Given the description of an element on the screen output the (x, y) to click on. 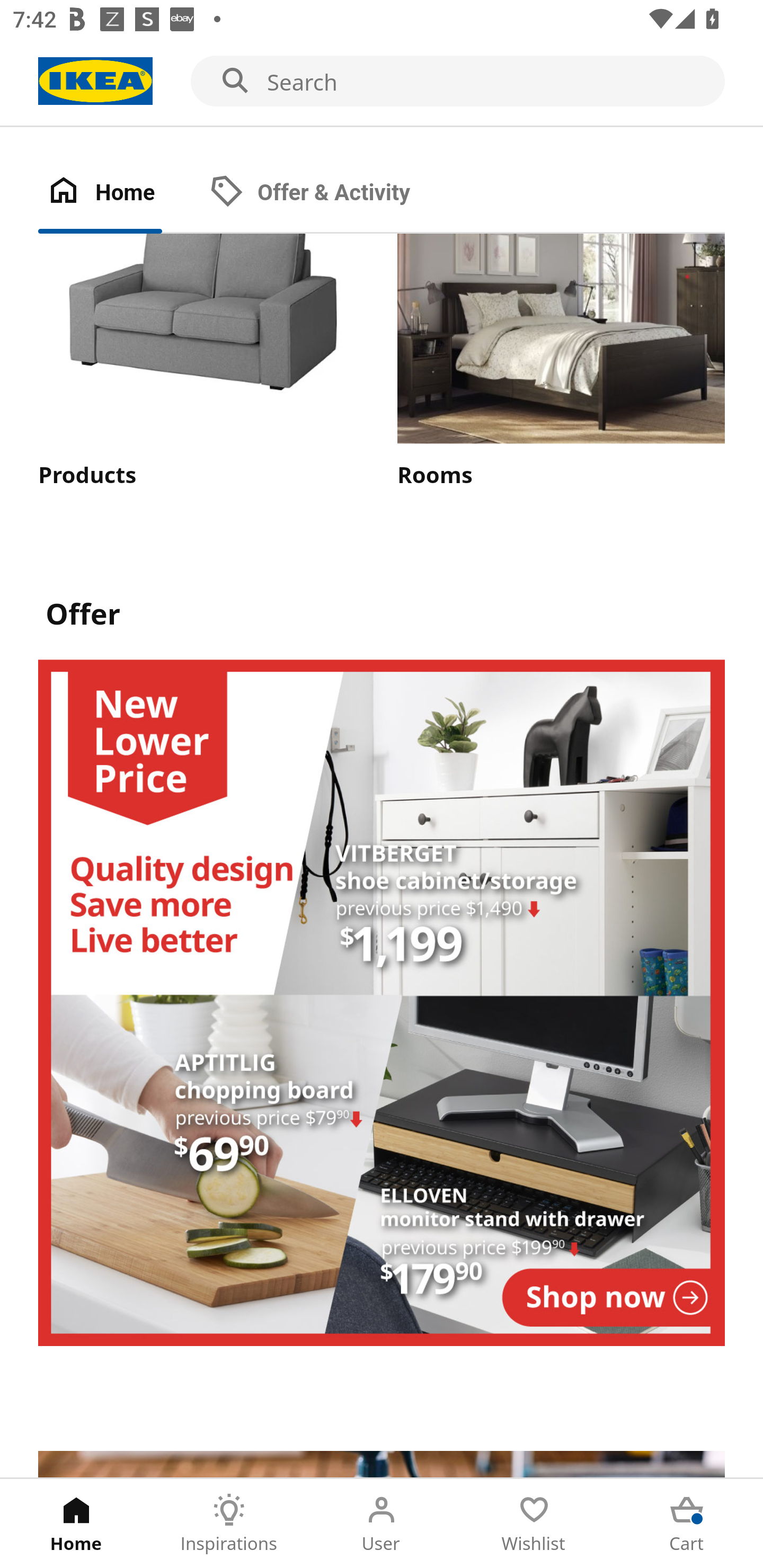
Search (381, 81)
Home
Tab 1 of 2 (118, 192)
Offer & Activity
Tab 2 of 2 (327, 192)
Products (201, 361)
Rooms (560, 361)
Home
Tab 1 of 5 (76, 1522)
Inspirations
Tab 2 of 5 (228, 1522)
User
Tab 3 of 5 (381, 1522)
Wishlist
Tab 4 of 5 (533, 1522)
Cart
Tab 5 of 5 (686, 1522)
